Given the description of an element on the screen output the (x, y) to click on. 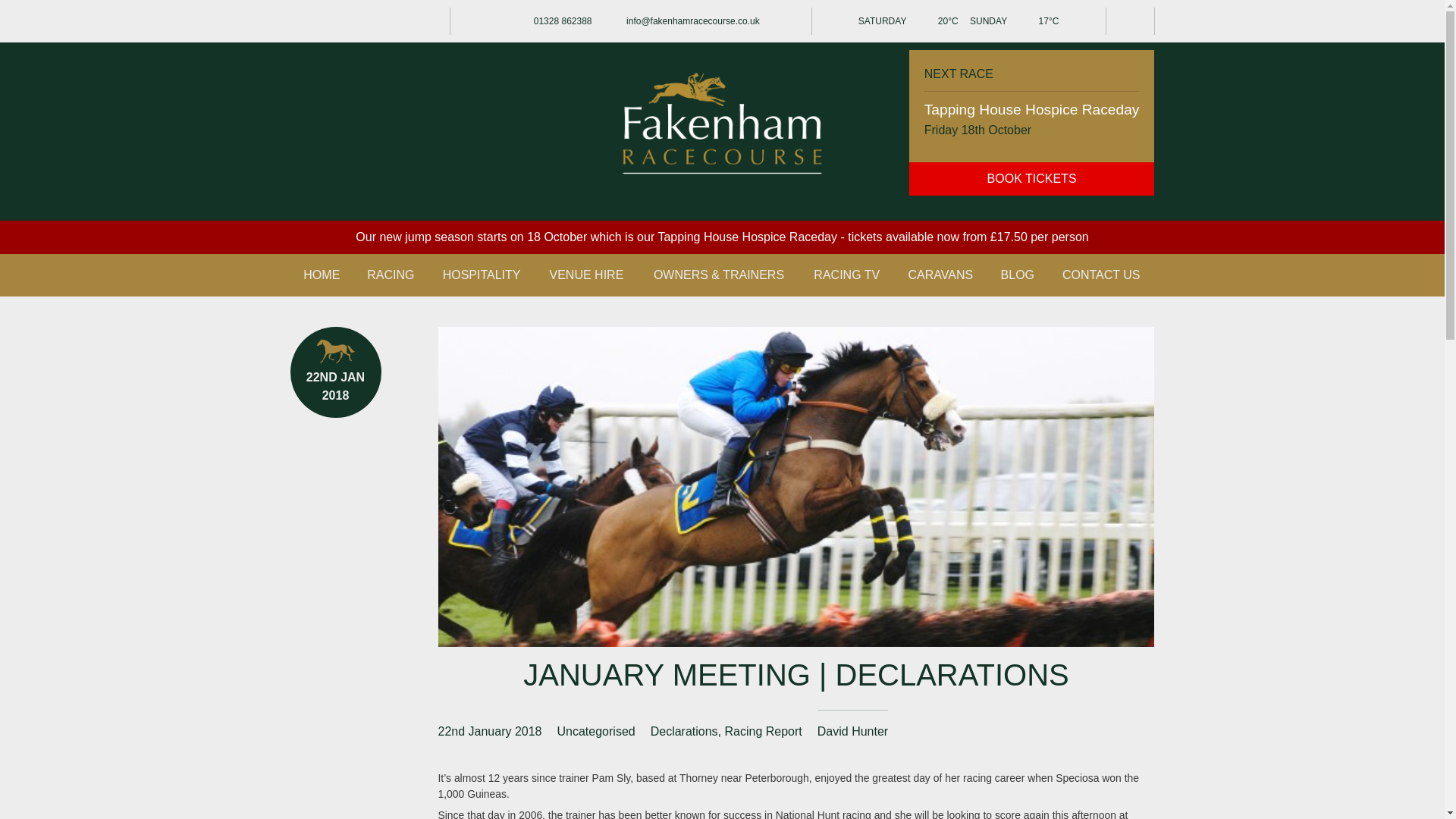
RACING (390, 274)
RACING TV (846, 274)
HOME (321, 274)
Instagram (360, 21)
01328 862388 (547, 21)
BOOK TICKETS (1031, 178)
Twitter (302, 21)
Google Plus (390, 21)
HOSPITALITY (481, 274)
View all posts by David Hunter (852, 731)
Facebook (332, 21)
VENUE HIRE (587, 274)
